Given the description of an element on the screen output the (x, y) to click on. 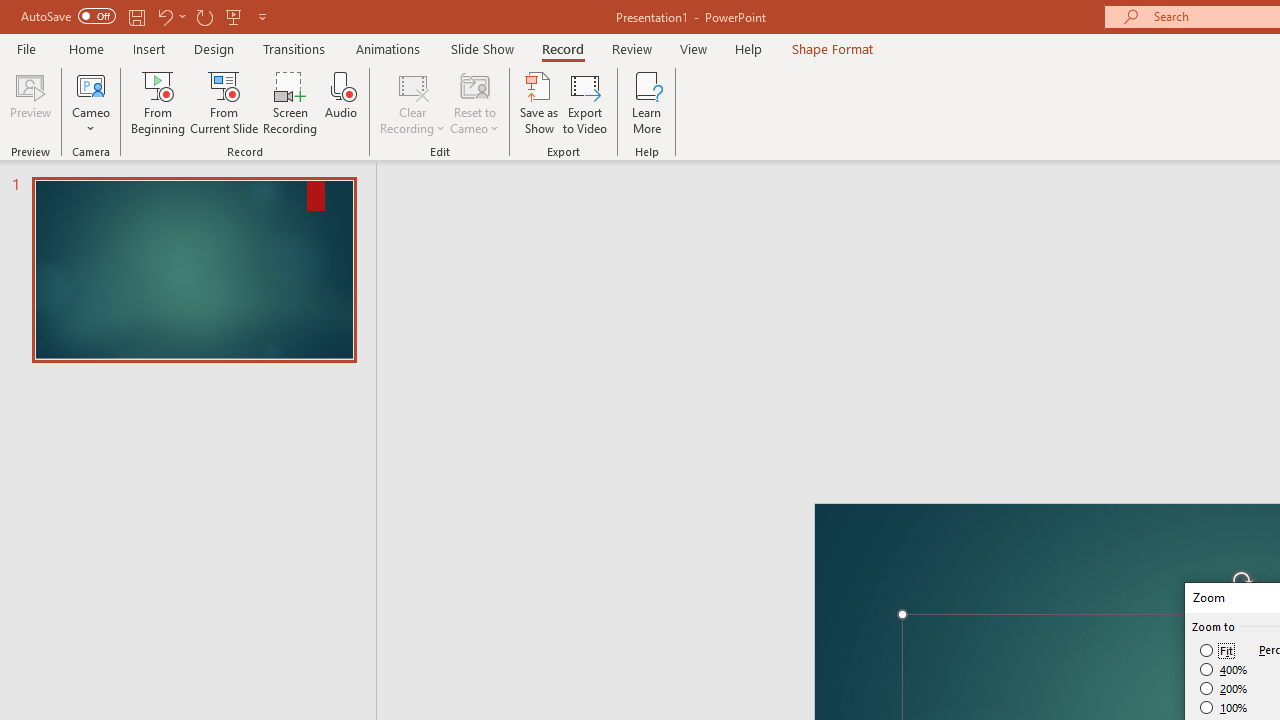
From Beginning... (158, 102)
Preview (30, 102)
Screen Recording (290, 102)
Fit (1217, 650)
